Given the description of an element on the screen output the (x, y) to click on. 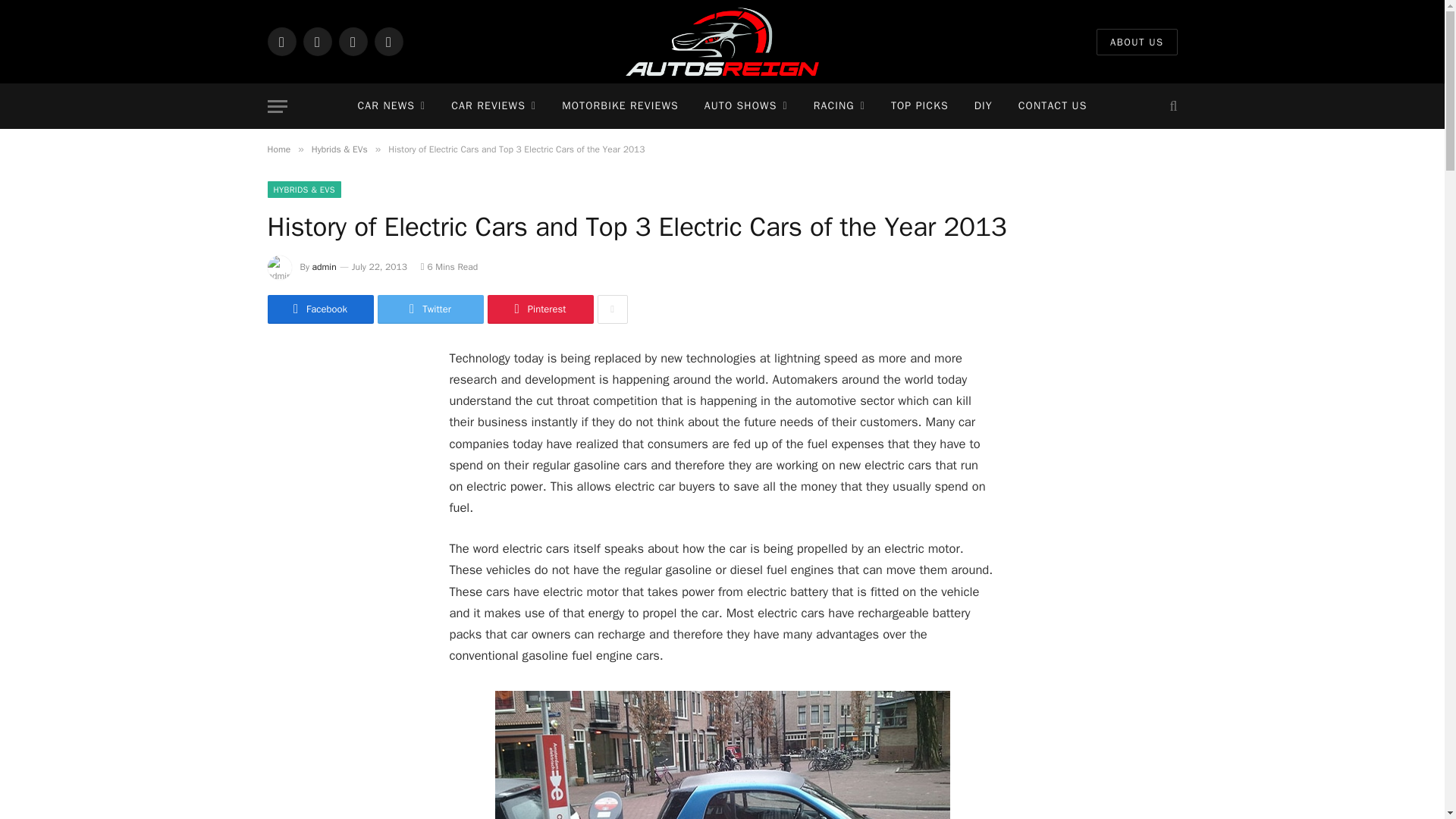
CONTACT US (1053, 105)
Share on Facebook (319, 308)
Facebook (280, 41)
Home (277, 149)
Share on Twitter (430, 308)
RACING (838, 105)
Pinterest (388, 41)
AUTO SHOWS (745, 105)
Instagram (351, 41)
Show More Social Sharing (611, 308)
DIY (983, 105)
TOP PICKS (918, 105)
Autos Reign (722, 41)
Posts by admin (324, 266)
admin (324, 266)
